Given the description of an element on the screen output the (x, y) to click on. 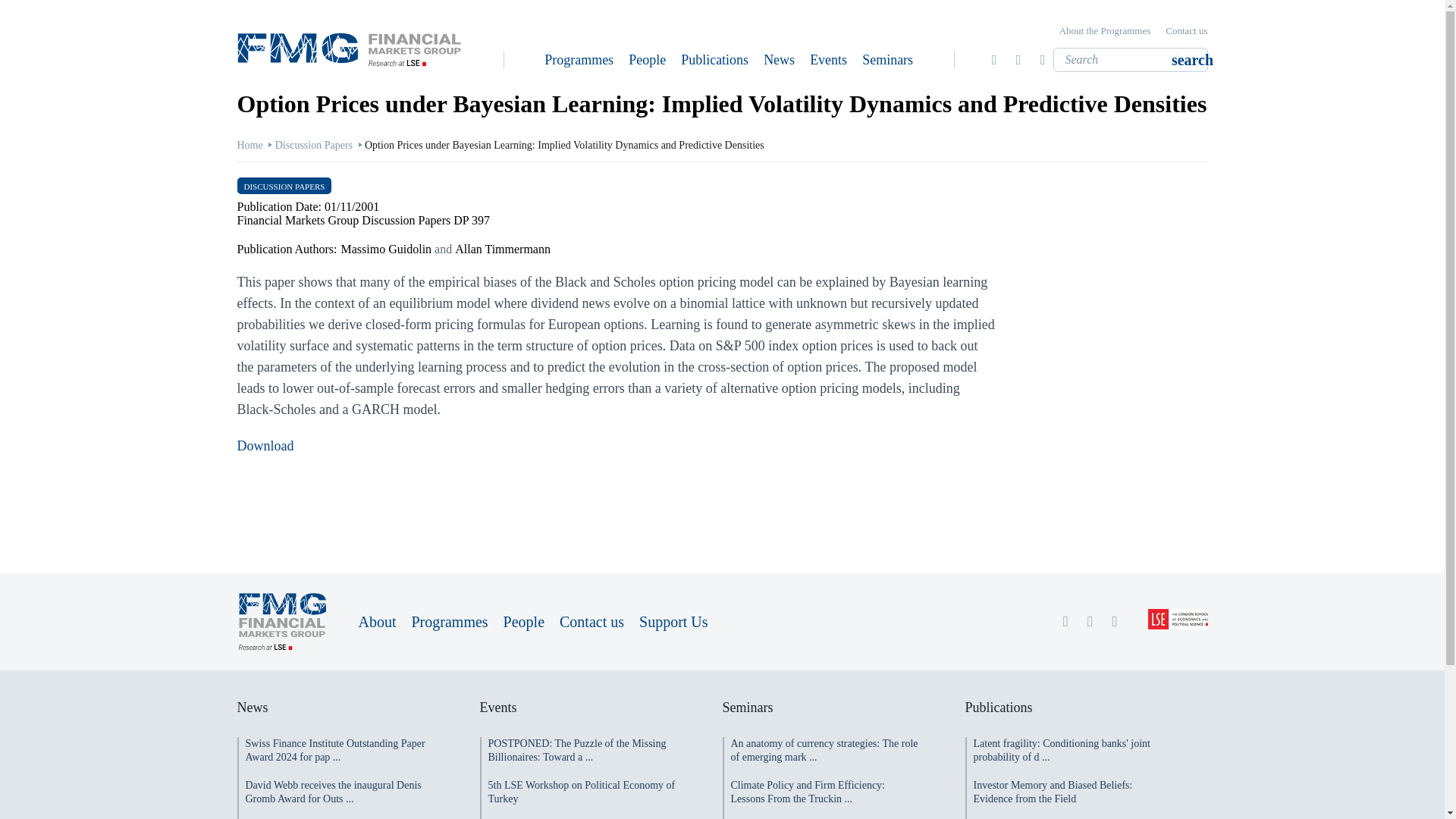
Search (1192, 59)
DISCUSSION PAPERS (284, 185)
Publications (714, 59)
Discussion Papers (313, 144)
About the Programmes (1105, 30)
News (778, 59)
Contact us (591, 621)
Programmes (448, 621)
Download (264, 445)
Home (248, 144)
About (377, 621)
Events (828, 59)
